Given the description of an element on the screen output the (x, y) to click on. 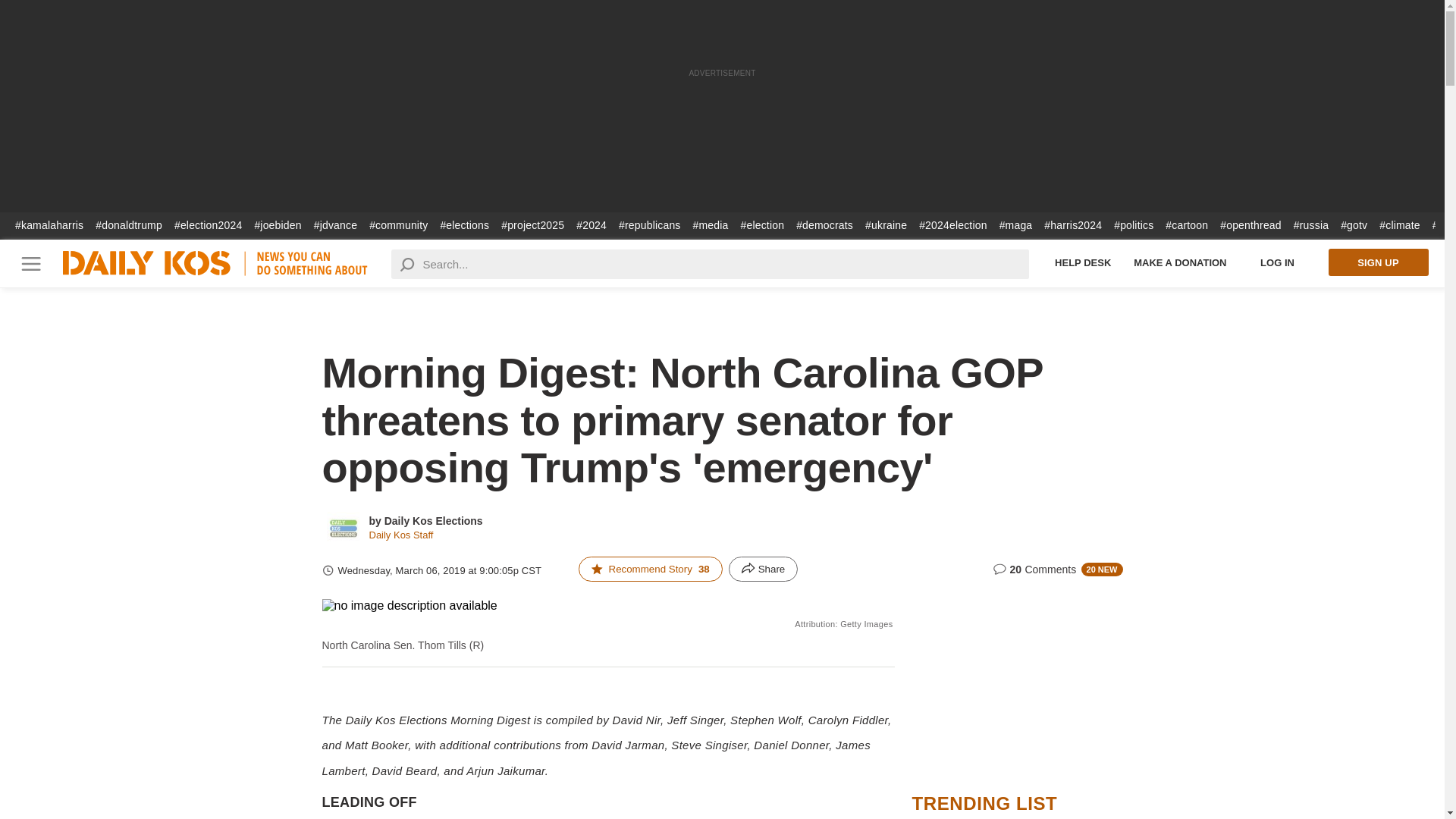
Make a Donation (1179, 262)
Help Desk (1082, 262)
MAKE A DONATION (1179, 262)
